Given the description of an element on the screen output the (x, y) to click on. 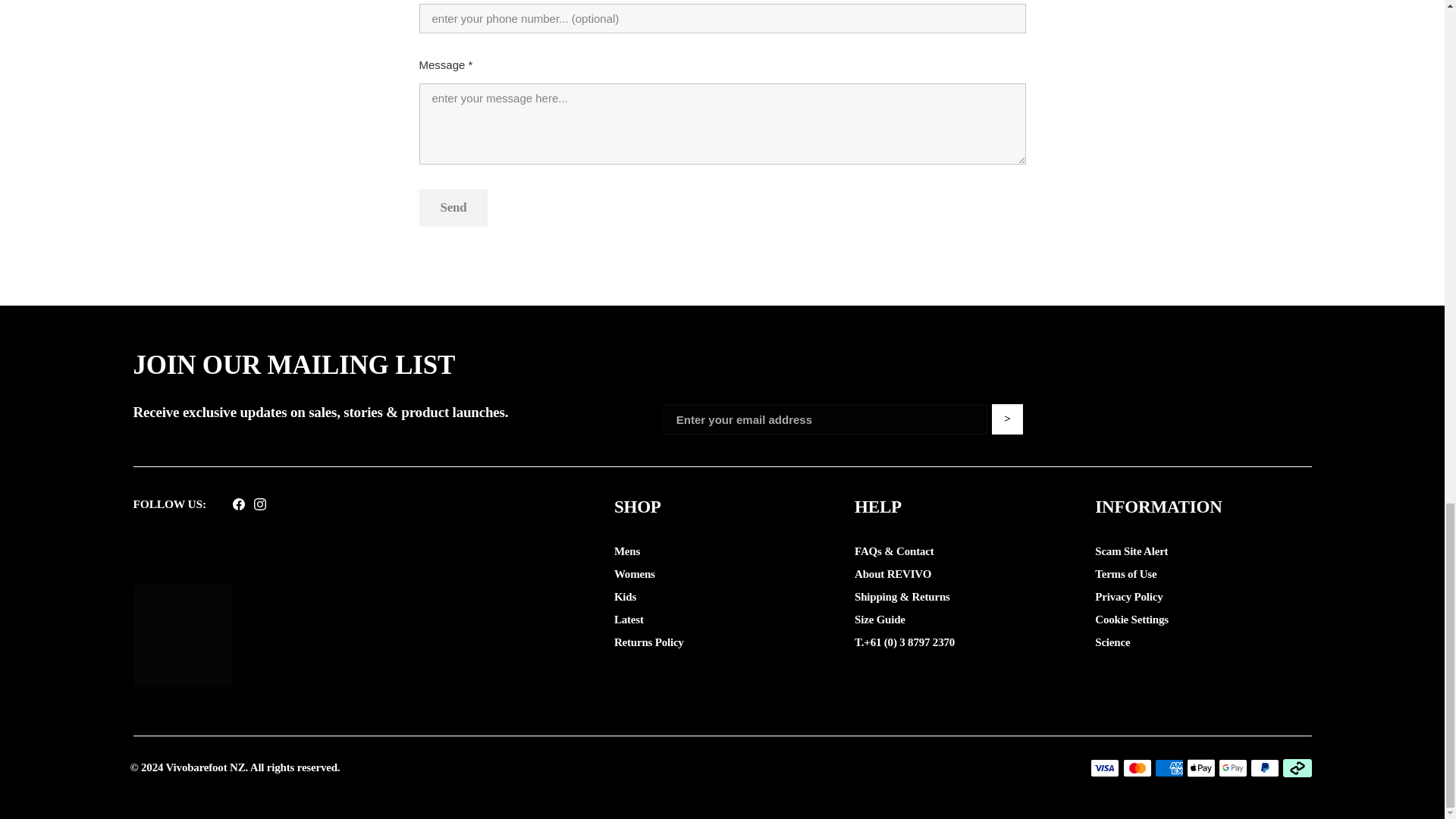
Apple Pay (1200, 768)
Mastercard (1136, 768)
Visa (1104, 768)
Google Pay (1232, 768)
American Express (1168, 768)
